Given the description of an element on the screen output the (x, y) to click on. 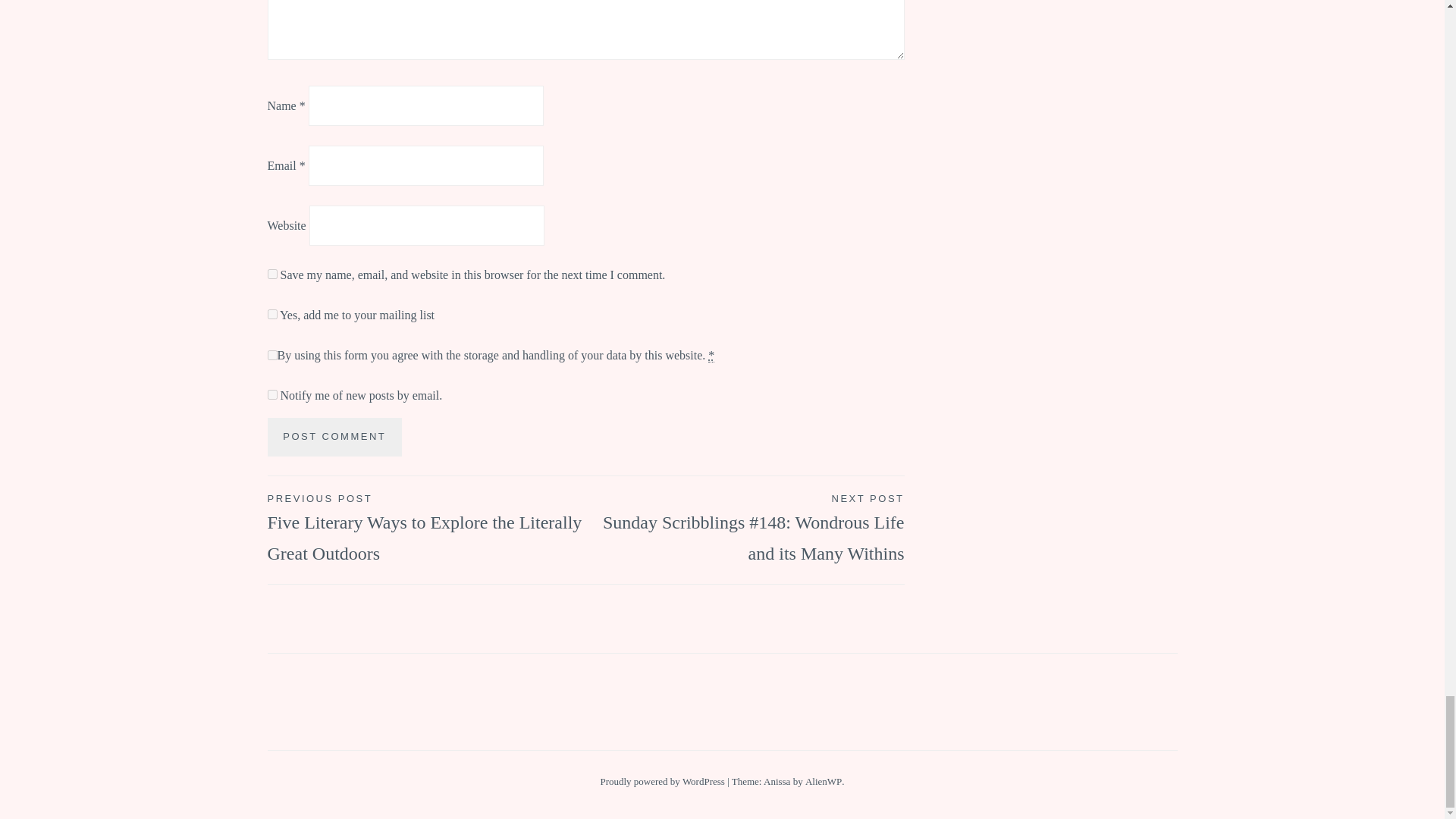
yes (271, 274)
Post Comment (333, 436)
subscribe (271, 394)
1 (271, 314)
